Given the description of an element on the screen output the (x, y) to click on. 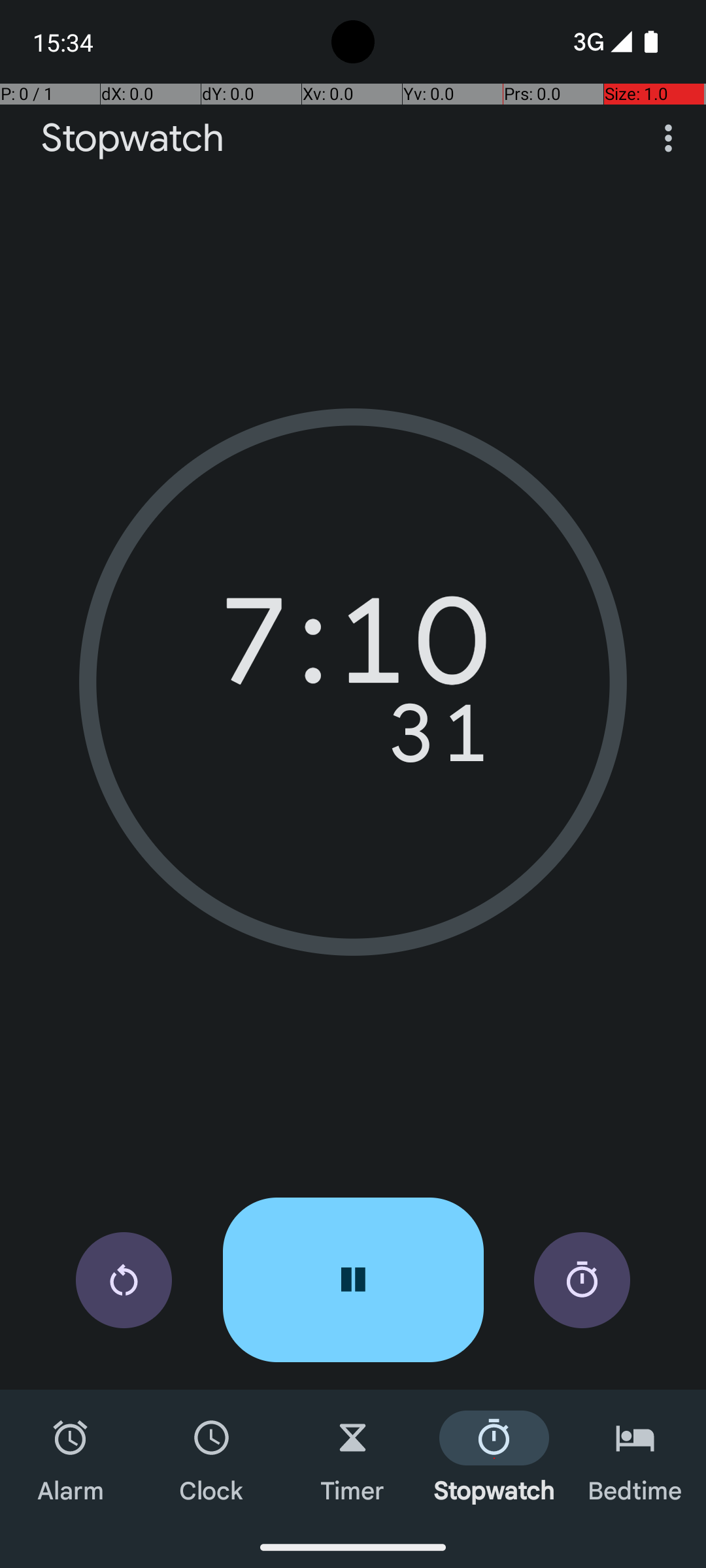
Lap Element type: android.widget.ImageButton (582, 1280)
7:04 Element type: android.widget.TextView (352, 650)
3G Element type: android.widget.ImageView (587, 41)
